Given the description of an element on the screen output the (x, y) to click on. 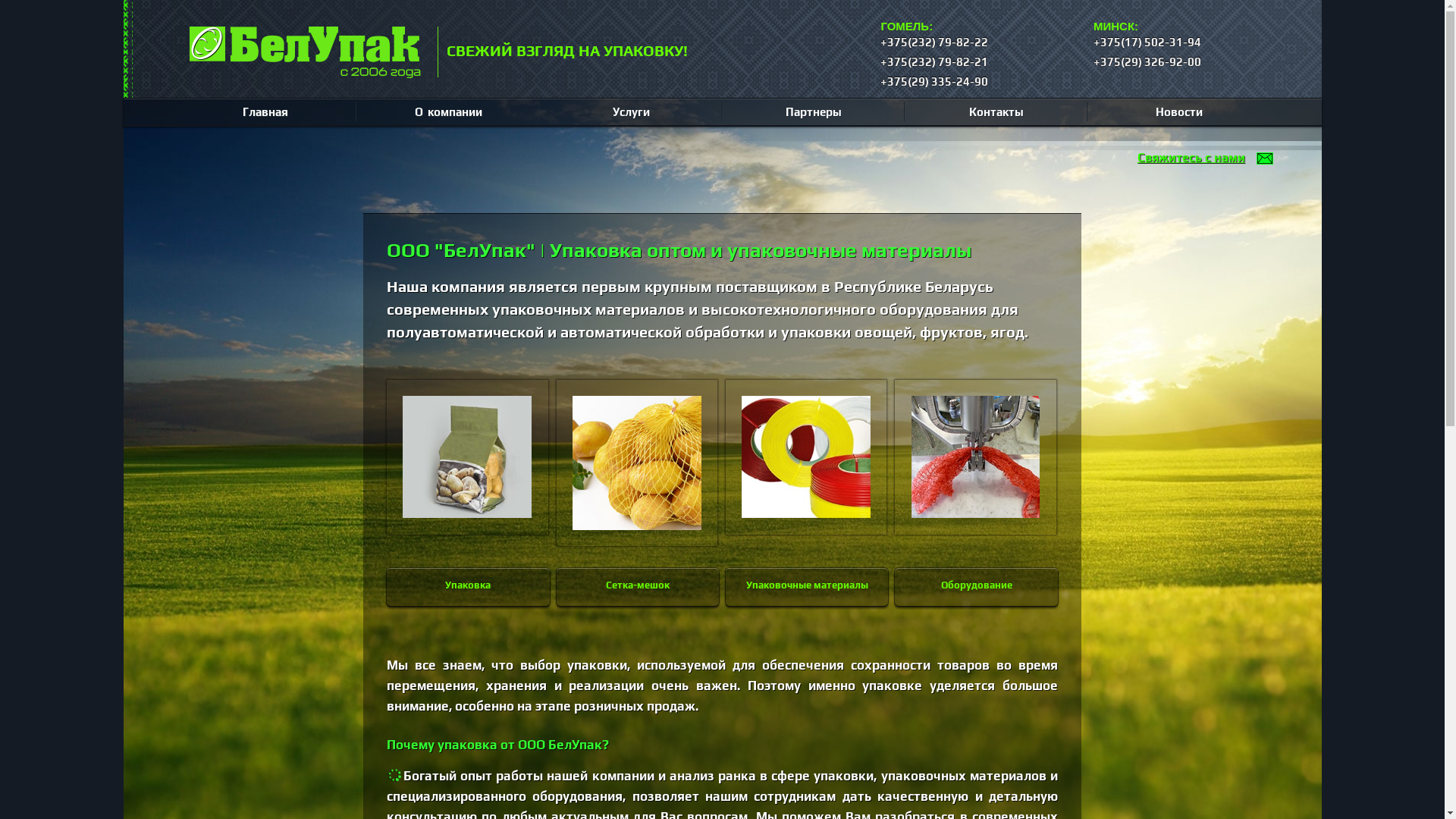
+375(29) 326-92-00 Element type: text (1190, 62)
+375(232) 79-82-22 Element type: text (977, 42)
+375(17) 502-31-94 Element type: text (1190, 42)
+375(232) 79-82-21 Element type: text (977, 62)
+375(29) 335-24-90 Element type: text (977, 81)
